Given the description of an element on the screen output the (x, y) to click on. 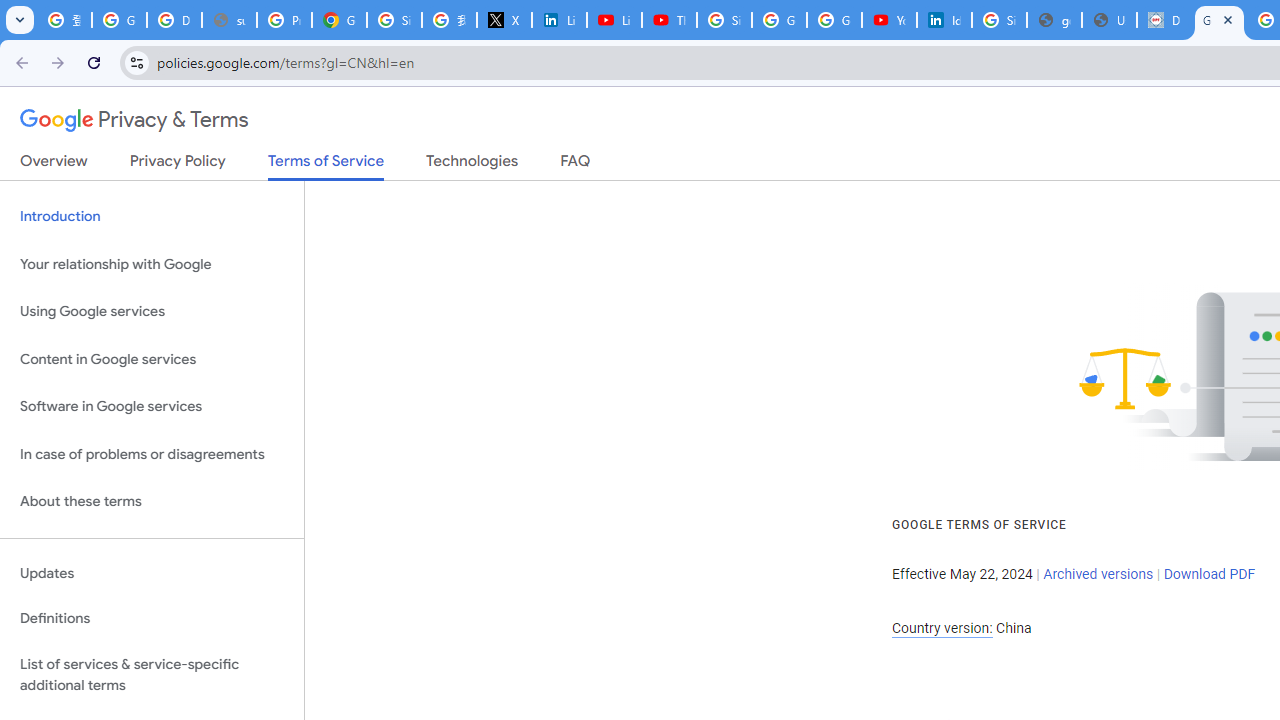
Country version: (942, 628)
Content in Google services (152, 358)
support.google.com - Network error (229, 20)
Sign in - Google Accounts (724, 20)
About these terms (152, 502)
